Given the description of an element on the screen output the (x, y) to click on. 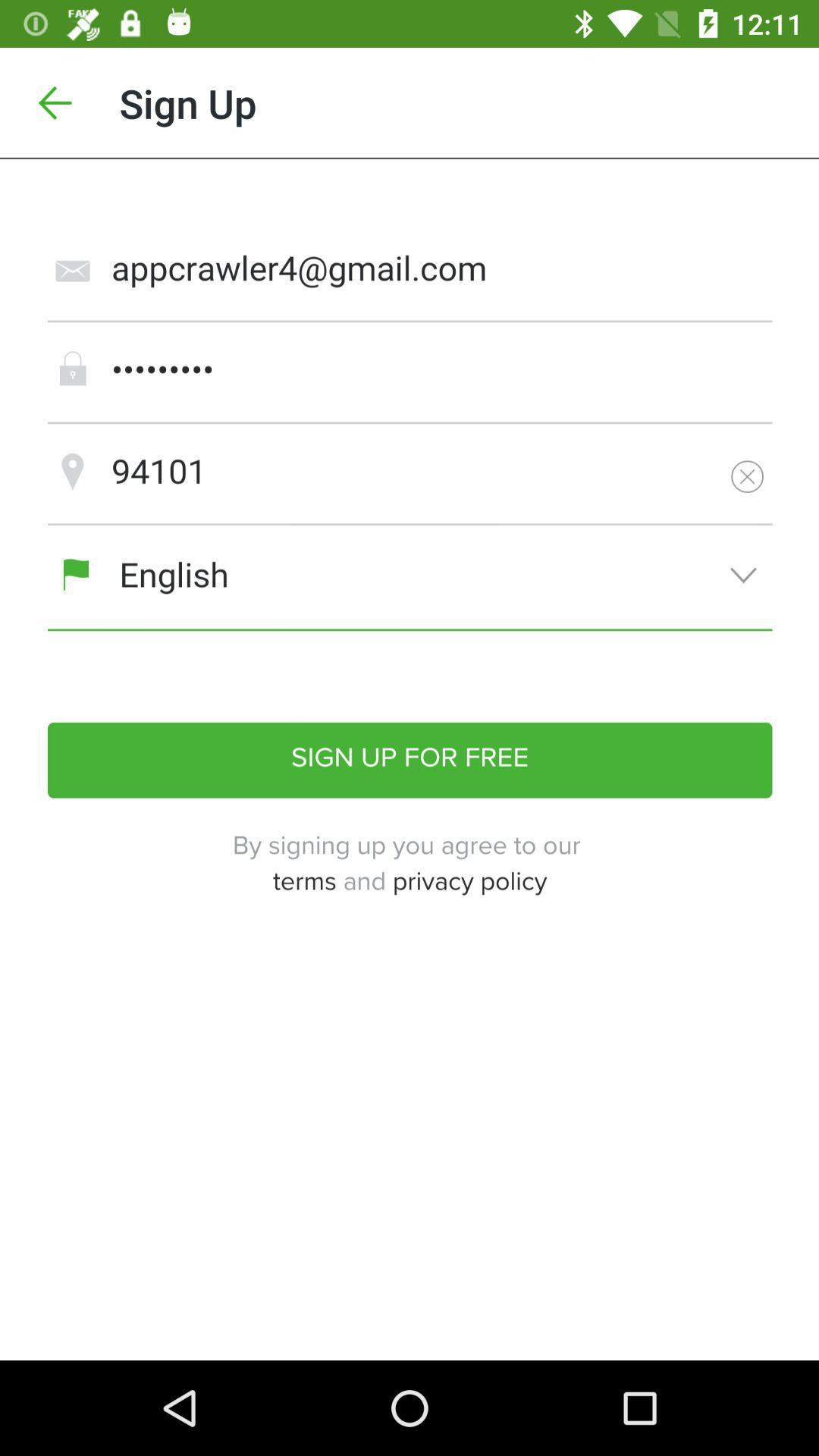
sign in screen (409, 759)
